Given the description of an element on the screen output the (x, y) to click on. 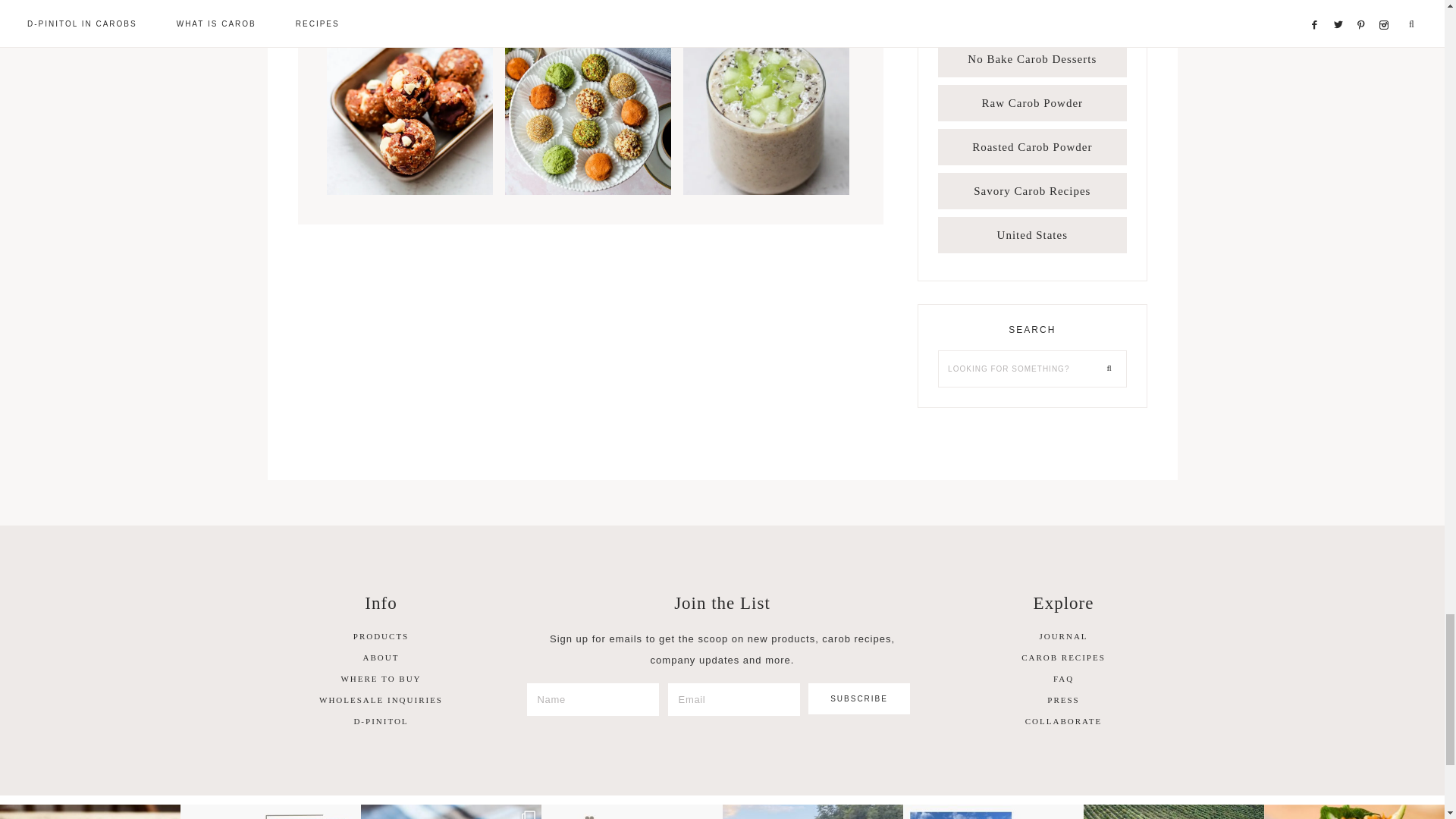
Permanent Link to Oatmeal Carob Chip Cookies (409, 191)
Permanent Link to Carob and Sweet Potato Truffles (588, 191)
Subscribe (859, 698)
